Given the description of an element on the screen output the (x, y) to click on. 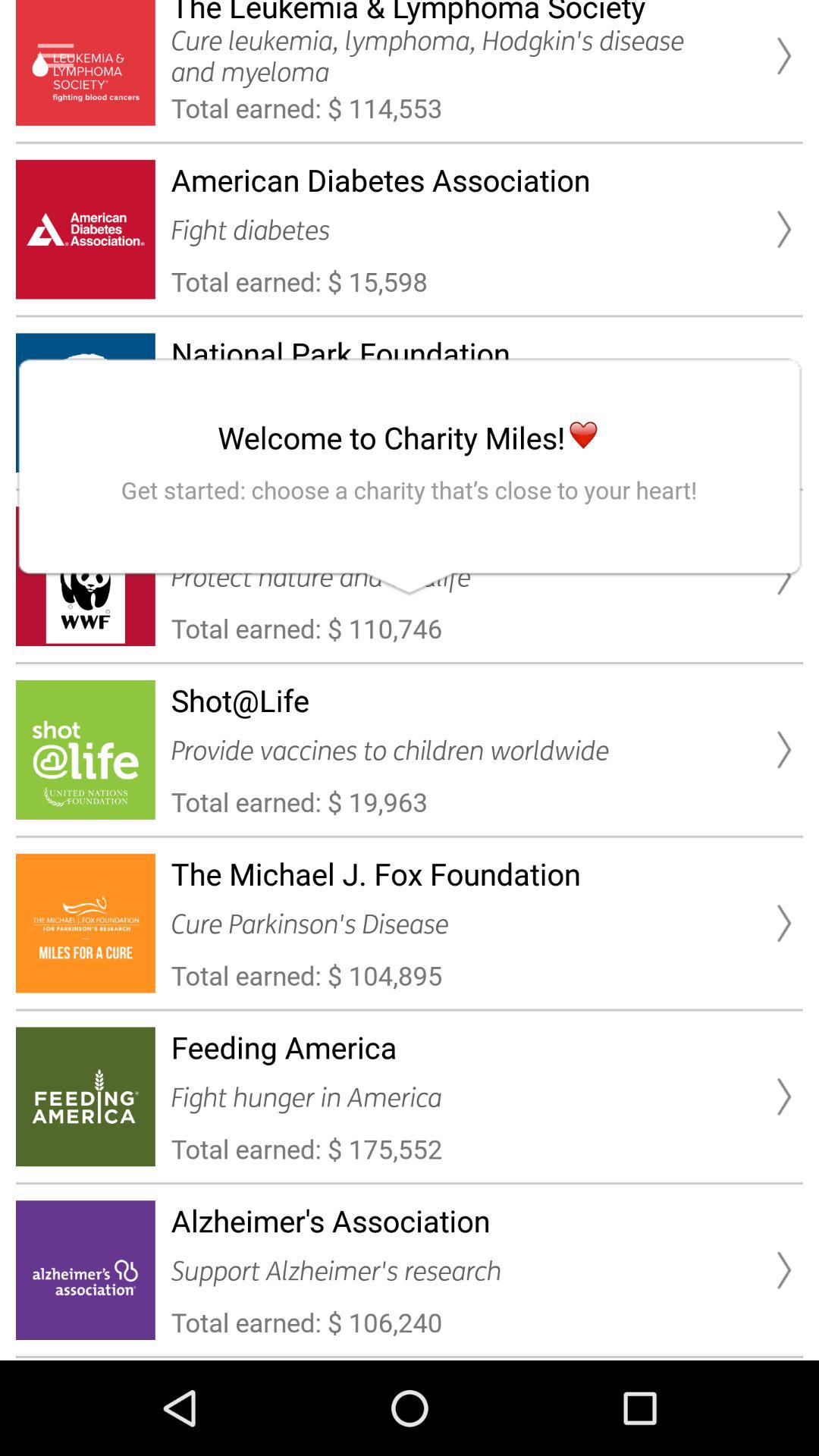
select charity thumbnail (55, 55)
